Given the description of an element on the screen output the (x, y) to click on. 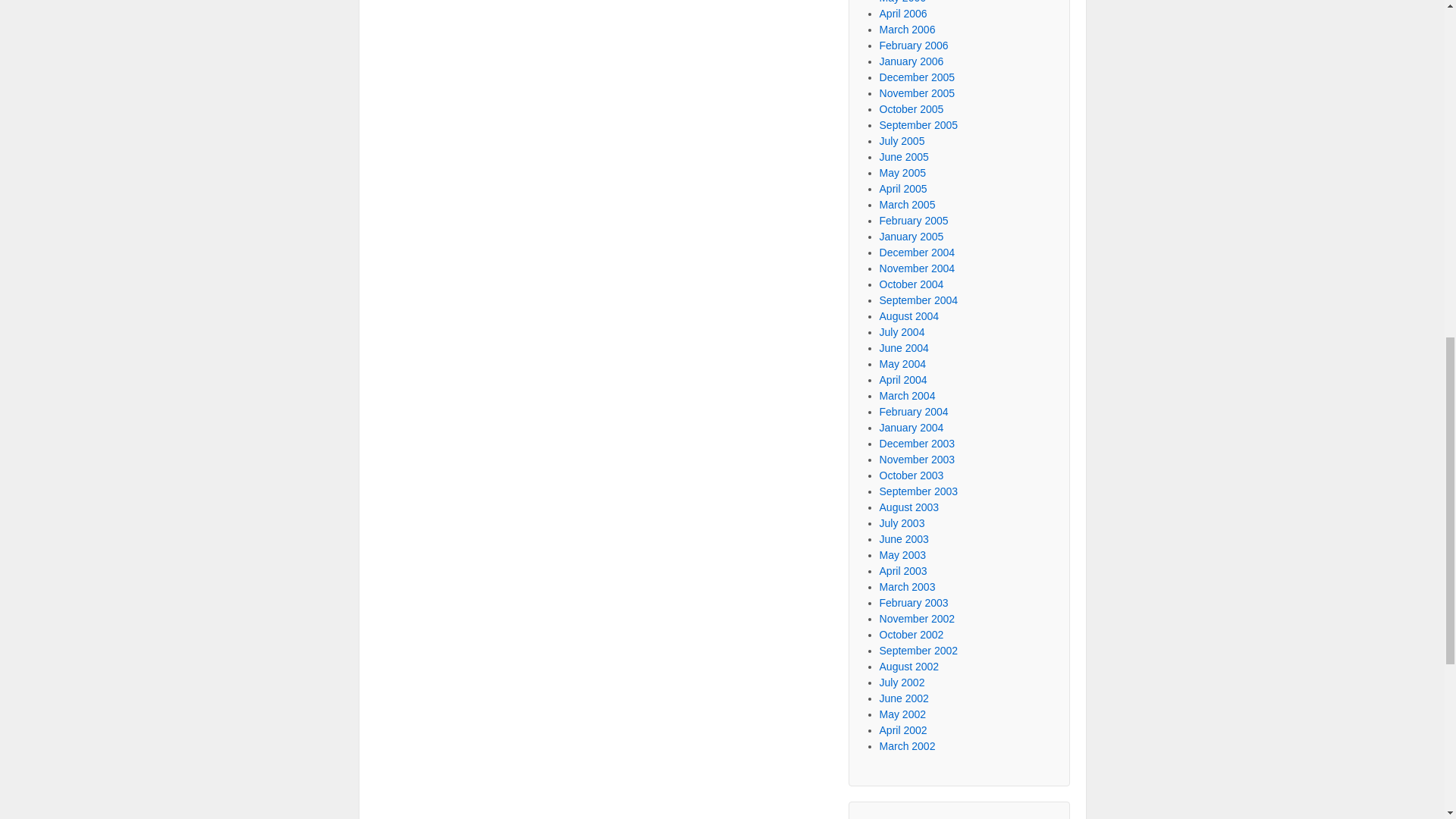
February 2006 (914, 45)
January 2006 (911, 61)
April 2006 (903, 13)
May 2006 (902, 2)
March 2006 (907, 29)
